Given the description of an element on the screen output the (x, y) to click on. 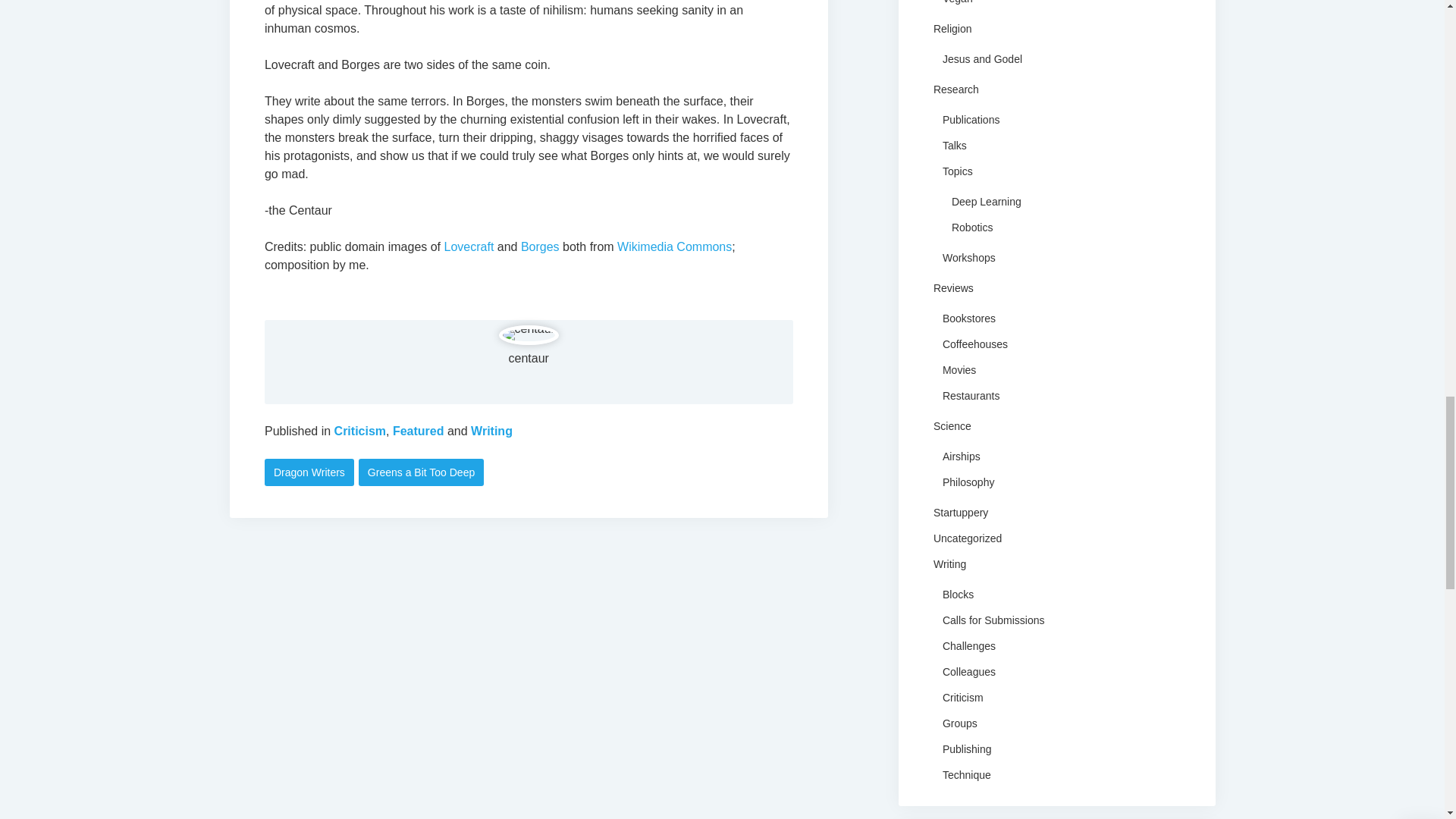
Greens a Bit Too Deep (420, 472)
Lovecraft (469, 246)
View all posts in Criticism (359, 431)
centaur (528, 358)
Featured (418, 431)
Borges (540, 246)
Dragon Writers (308, 472)
Writing (491, 431)
View all posts in Writing (491, 431)
Criticism (359, 431)
